Given the description of an element on the screen output the (x, y) to click on. 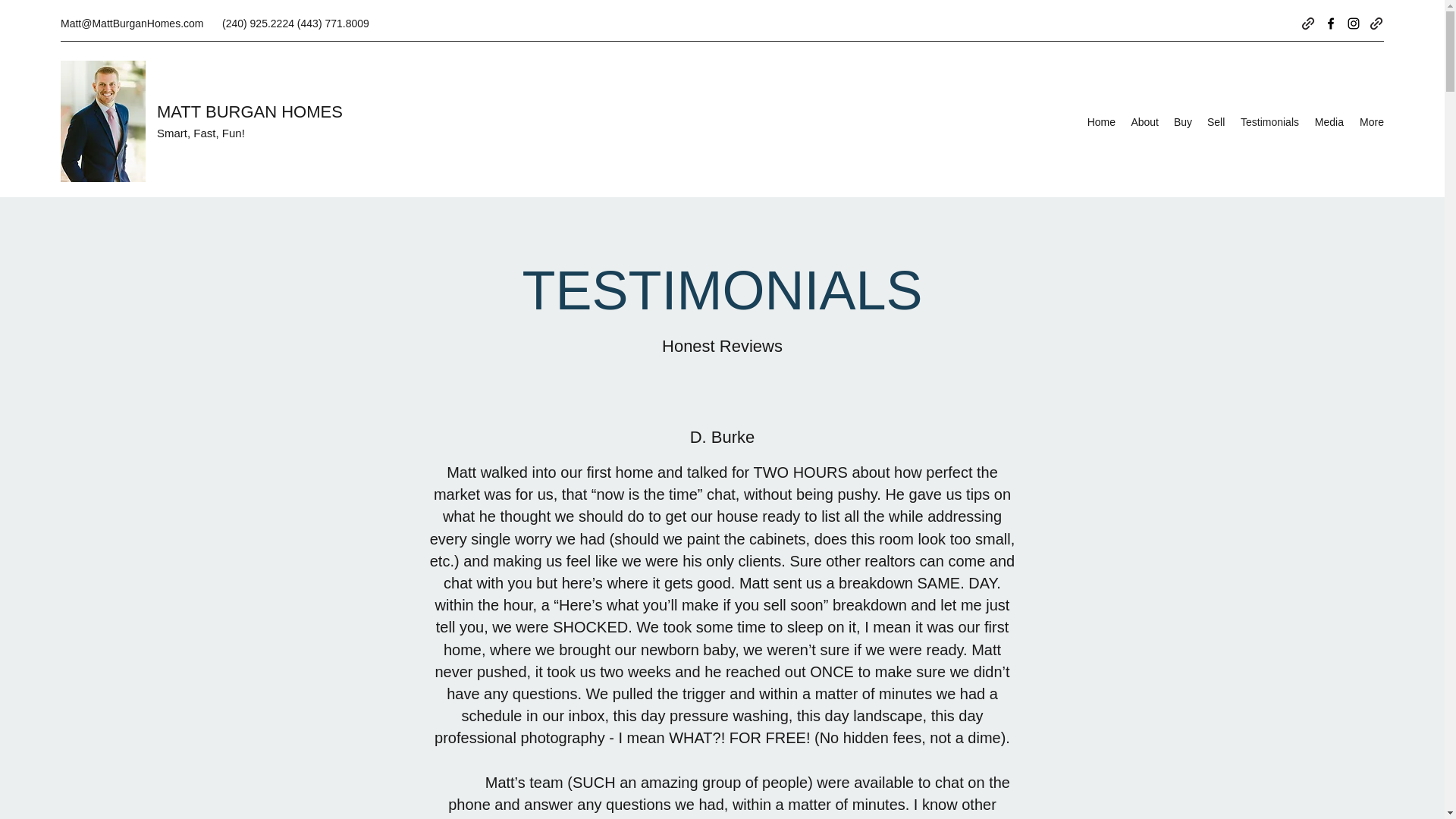
Media (1328, 121)
Testimonials (1268, 121)
About (1144, 121)
Buy (1182, 121)
Sell (1215, 121)
Home (1100, 121)
